Given the description of an element on the screen output the (x, y) to click on. 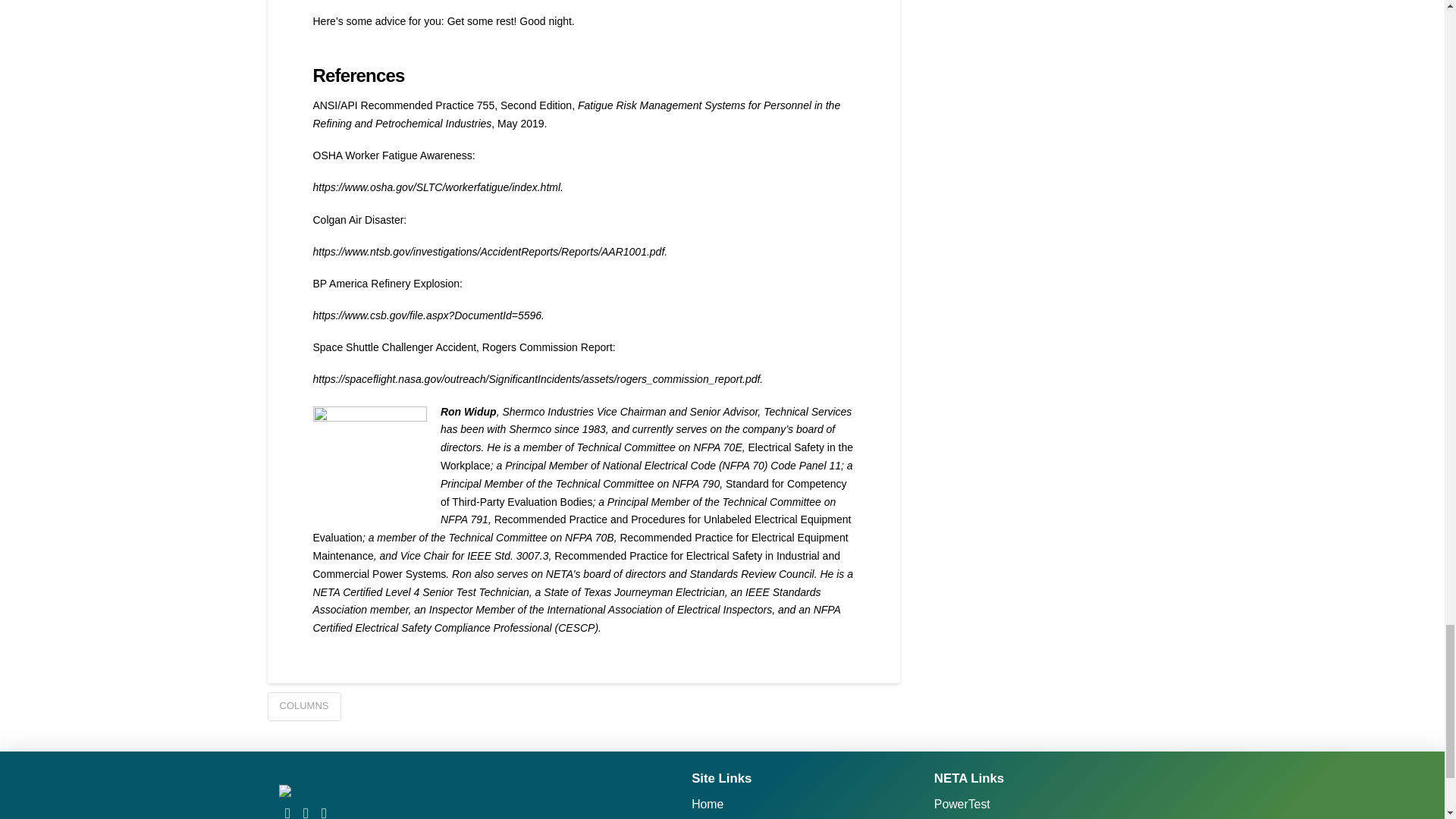
COLUMNS (303, 706)
